Given the description of an element on the screen output the (x, y) to click on. 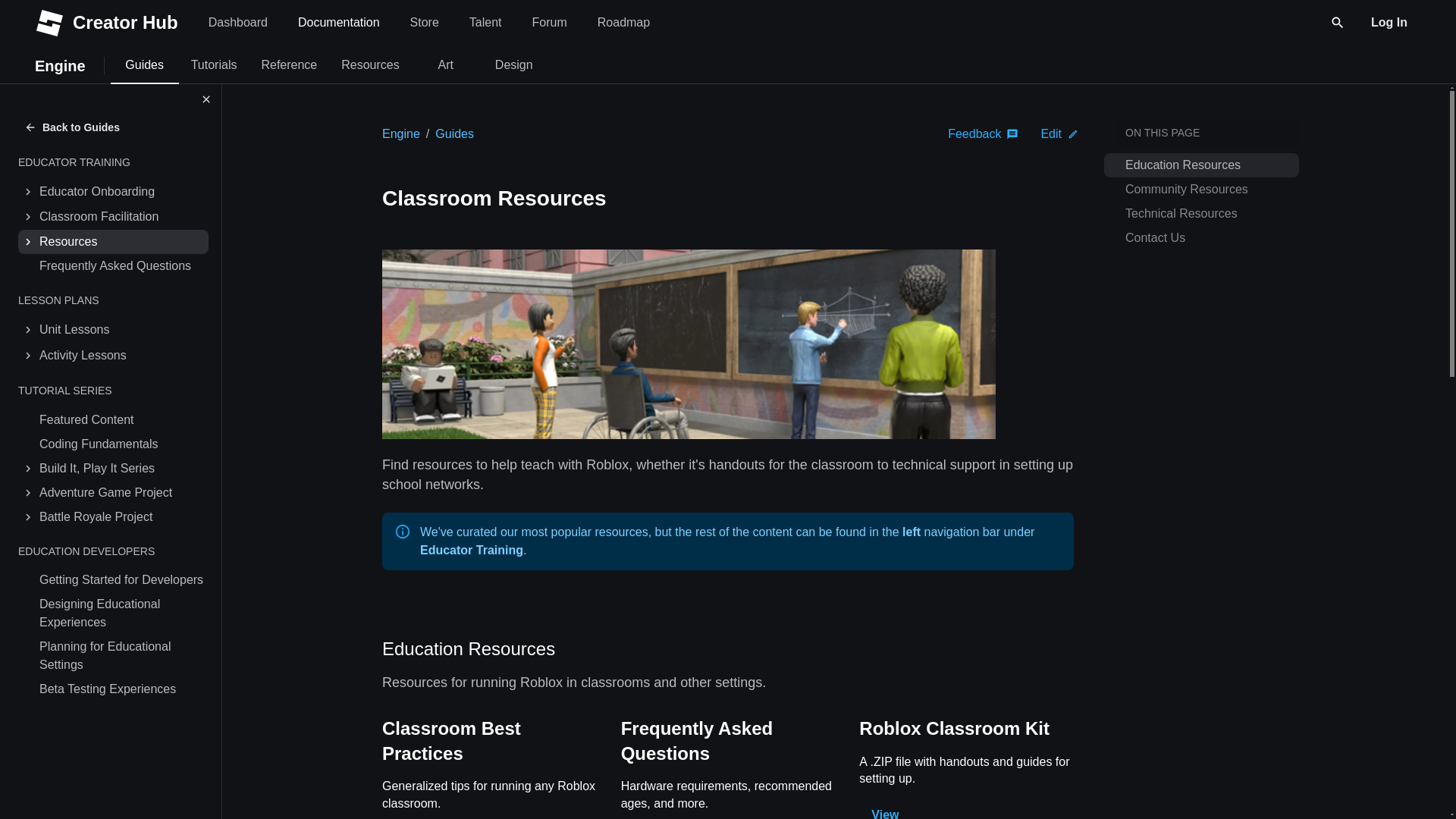
Art (446, 64)
Education Resources (467, 648)
Reference (288, 64)
Battle Royale Project (122, 517)
Back to Guides (72, 127)
Unit Lessons (122, 329)
Planning for Educational Settings (122, 655)
Roadmap (623, 22)
Feedback (983, 133)
Engine (400, 133)
Beta Testing Experiences (122, 689)
Talent (485, 22)
Educator Onboarding (122, 191)
Designing Educational Experiences (122, 613)
Coding Fundamentals (122, 444)
